Given the description of an element on the screen output the (x, y) to click on. 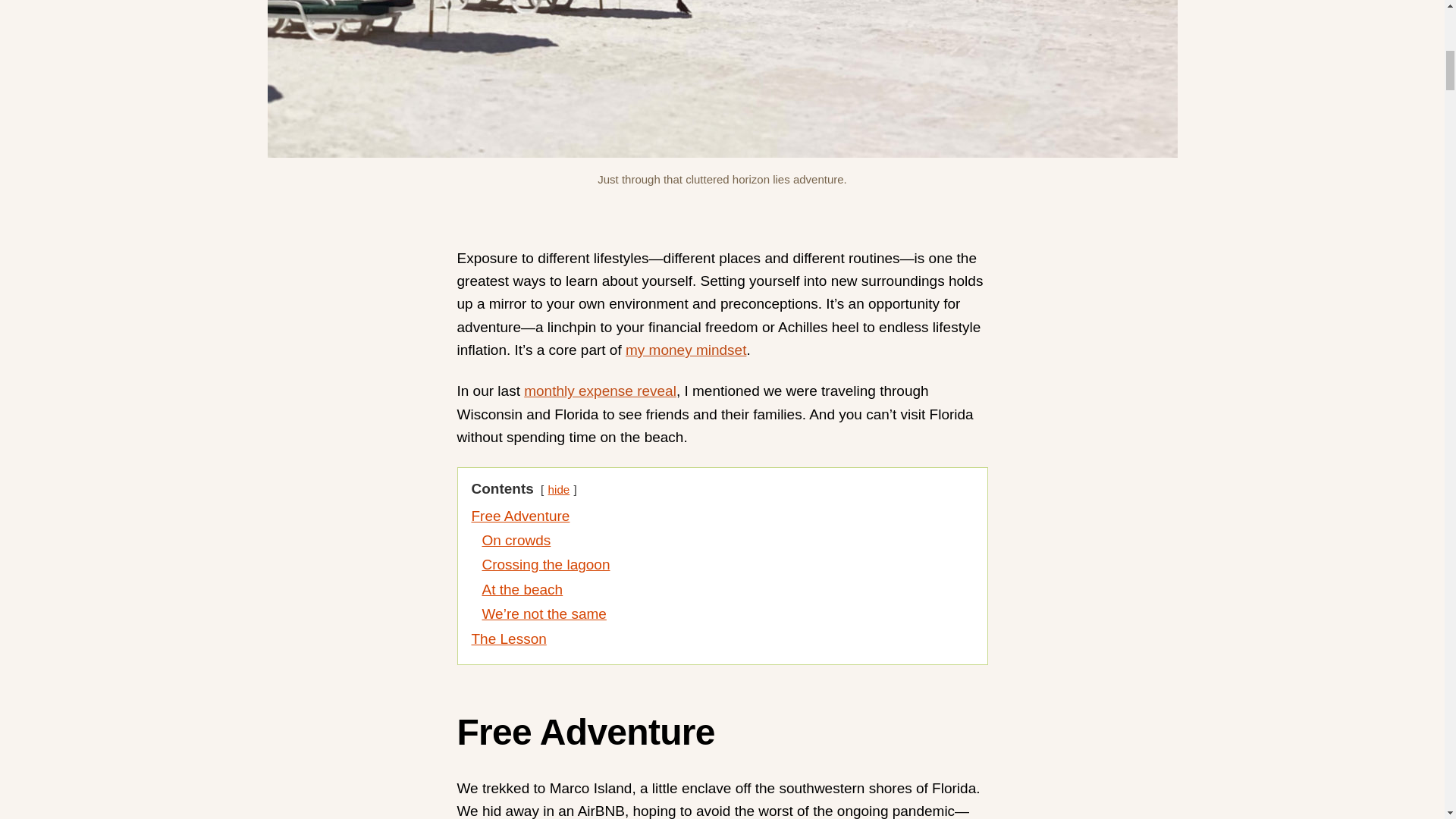
hide (559, 489)
monthly expense reveal (600, 390)
On crowds (516, 539)
Free Adventure (520, 515)
my money mindset (685, 349)
